Given the description of an element on the screen output the (x, y) to click on. 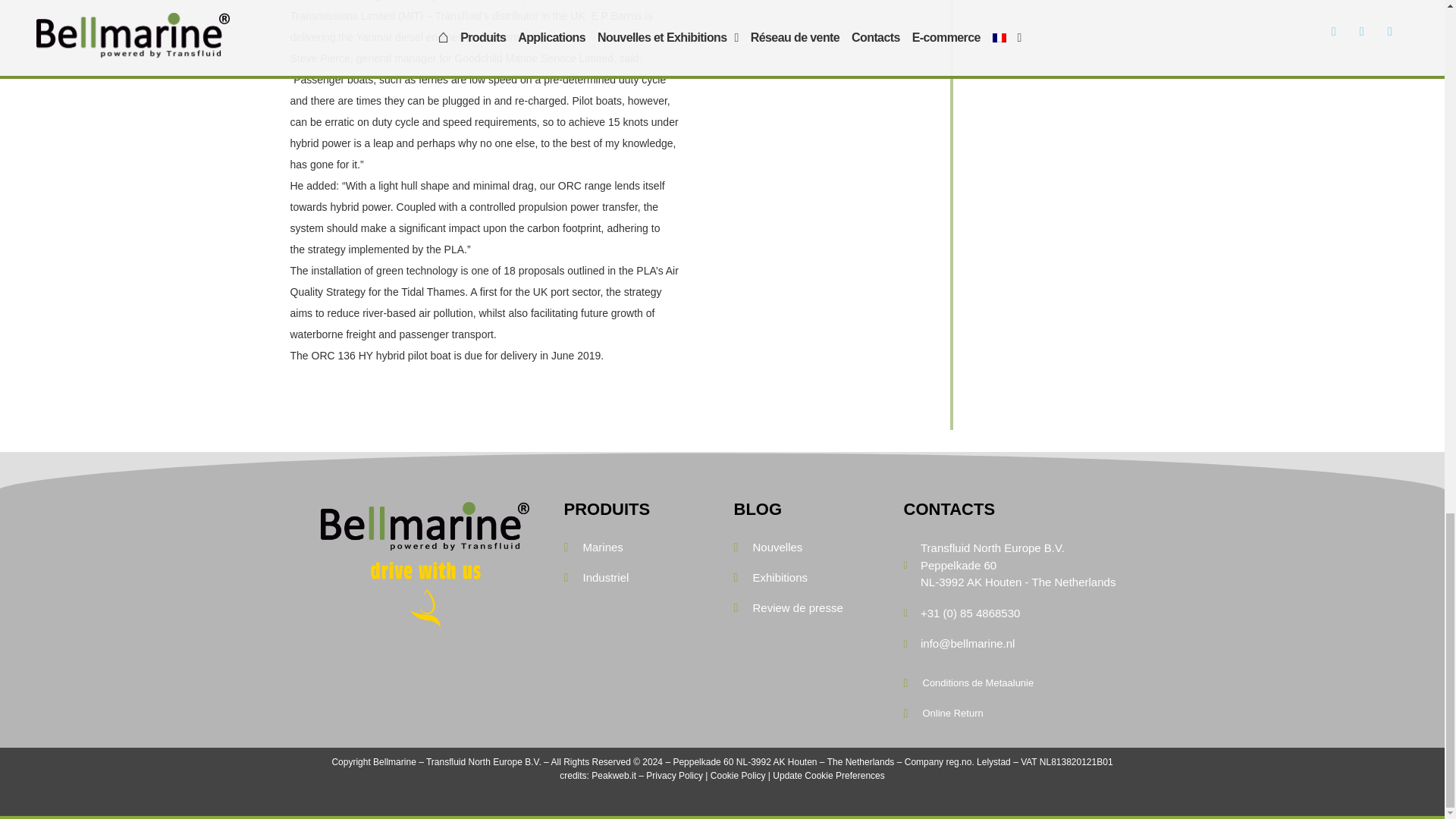
Privacy Policy (674, 775)
Cookie Policy (737, 775)
